Given the description of an element on the screen output the (x, y) to click on. 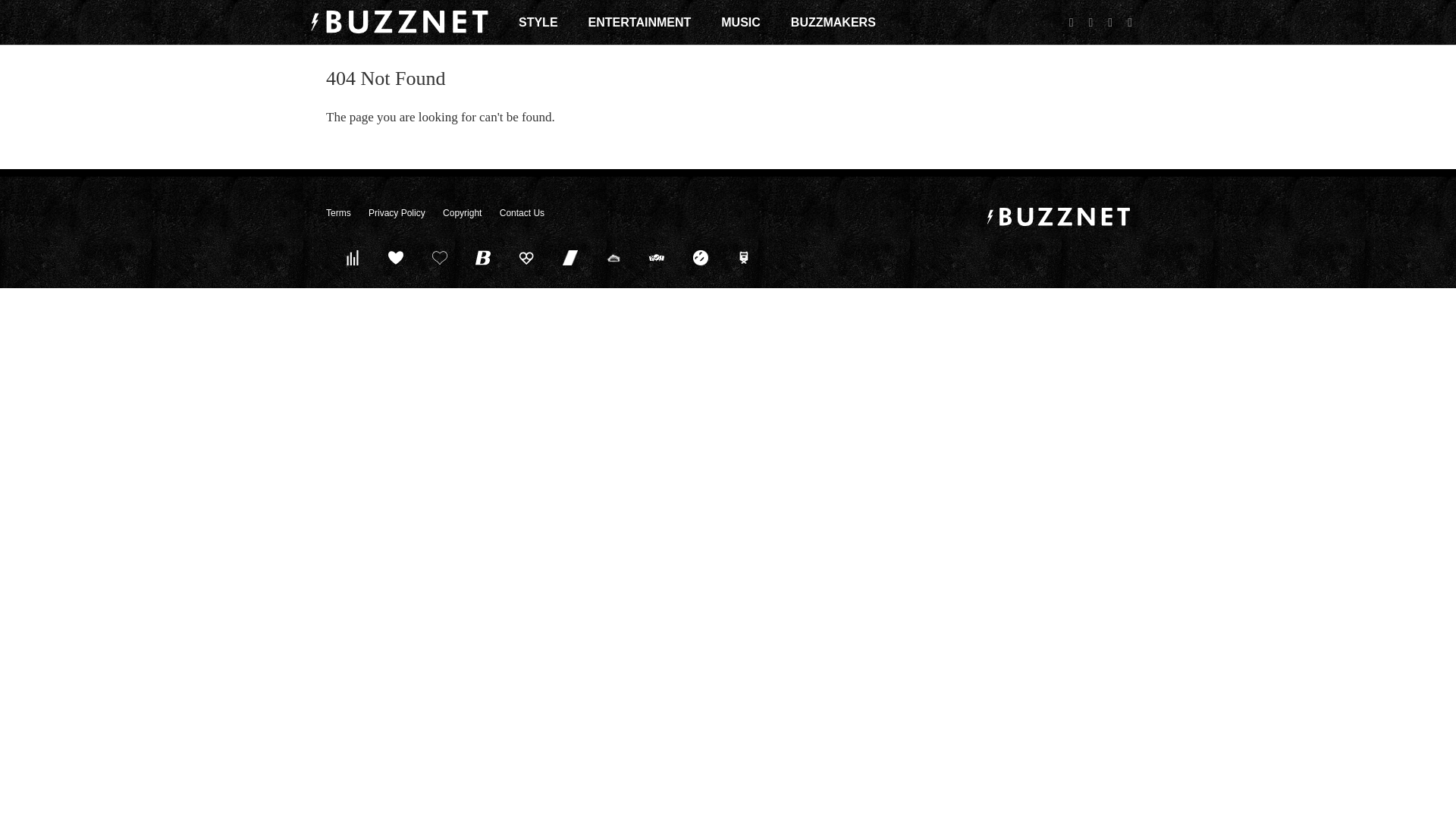
Copyright (461, 213)
Quizscape (656, 257)
Idolator (395, 257)
Daily Funny (699, 257)
STYLE (538, 22)
Taco Relish (612, 257)
Terms (338, 213)
Hooch (526, 257)
MUSIC (740, 22)
Explored Hollywood (743, 257)
Privacy Policy (396, 213)
Contact Us (521, 213)
ENTERTAINMENT (639, 22)
BleacherBreaker (483, 257)
Pure Volume (351, 257)
